Given the description of an element on the screen output the (x, y) to click on. 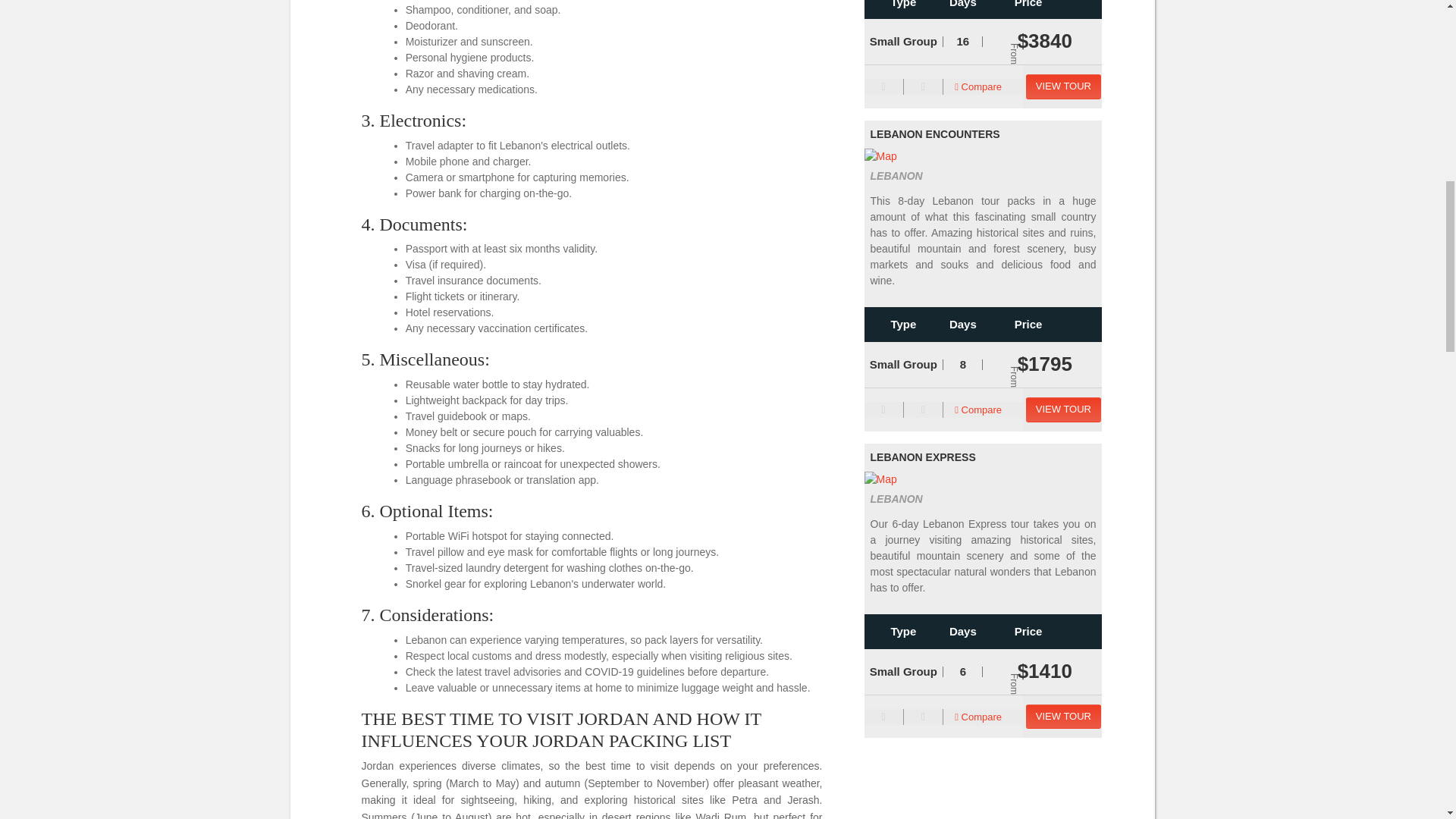
Book Now (1063, 86)
Book Now (1063, 716)
Book Now (1063, 409)
